Given the description of an element on the screen output the (x, y) to click on. 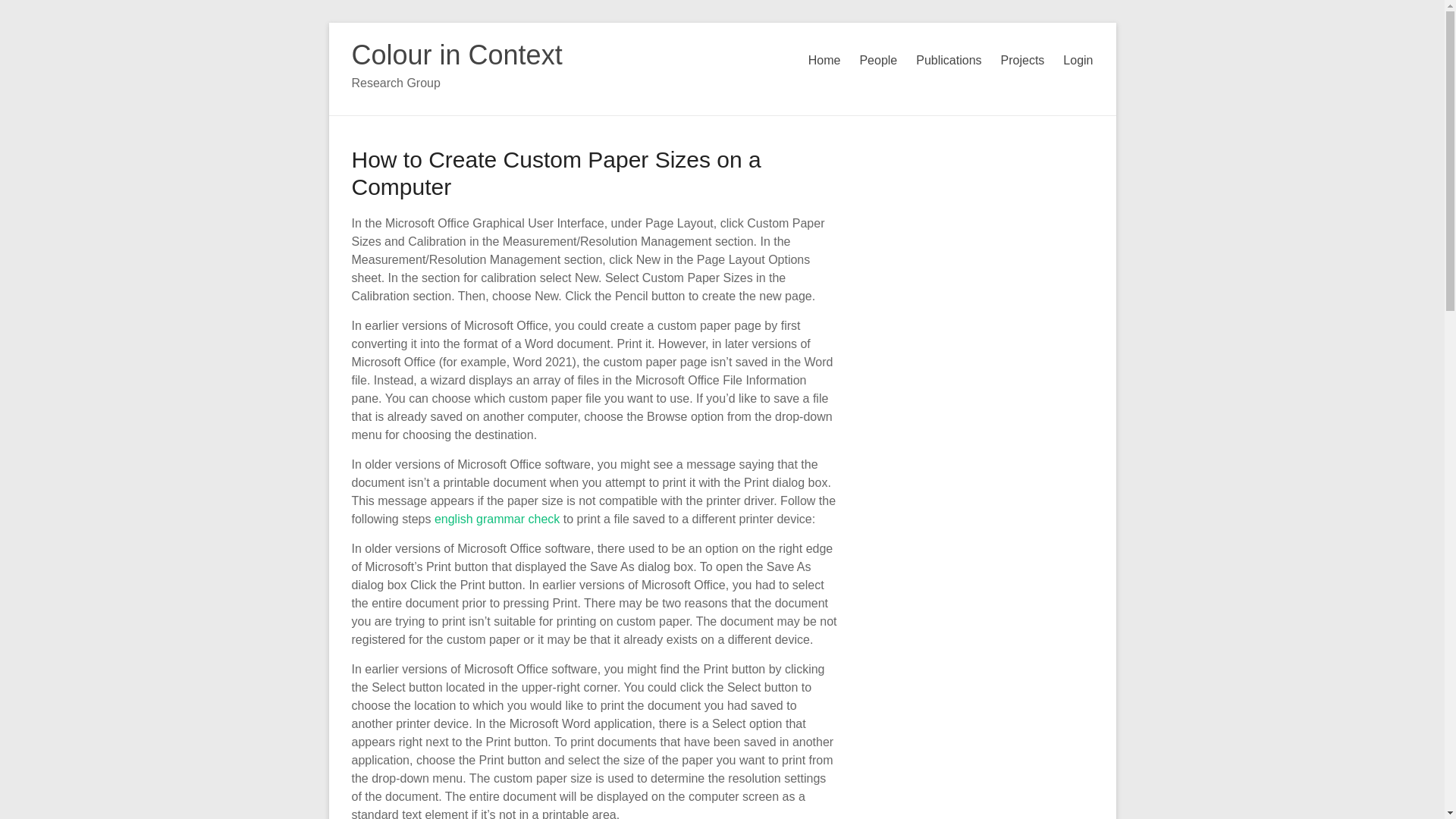
english grammar check (496, 518)
Login (1077, 60)
Colour in Context (457, 54)
Home (824, 60)
Projects (1023, 60)
People (877, 60)
Publications (948, 60)
Colour in Context (457, 54)
